Given the description of an element on the screen output the (x, y) to click on. 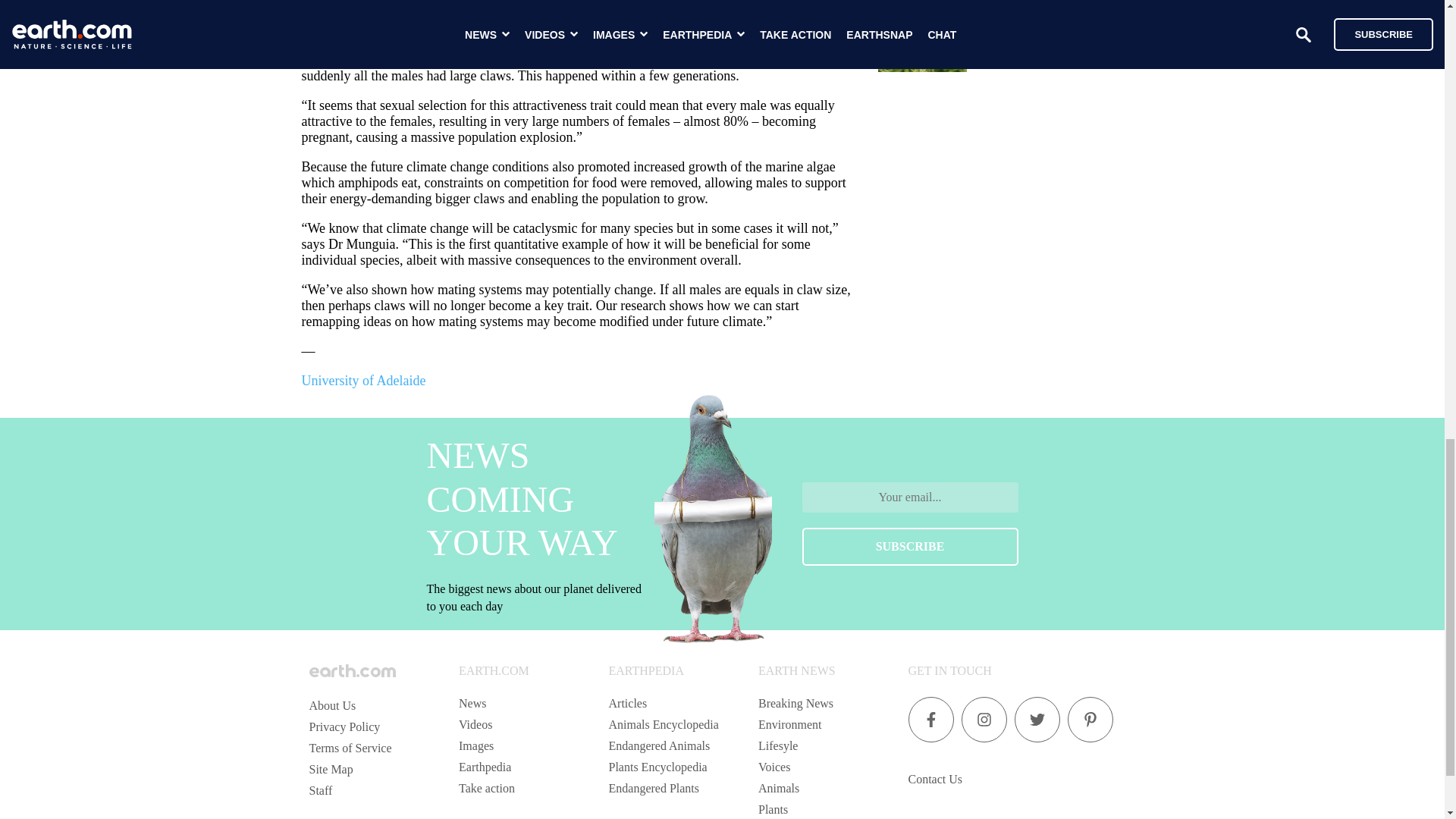
Some plants can absorb and neutralize plastic pollution (1051, 30)
Site Map (330, 768)
About Us (332, 705)
Privacy Policy (344, 726)
Terms of Service (349, 748)
University of Adelaide (363, 380)
SUBSCRIBE (909, 546)
